Given the description of an element on the screen output the (x, y) to click on. 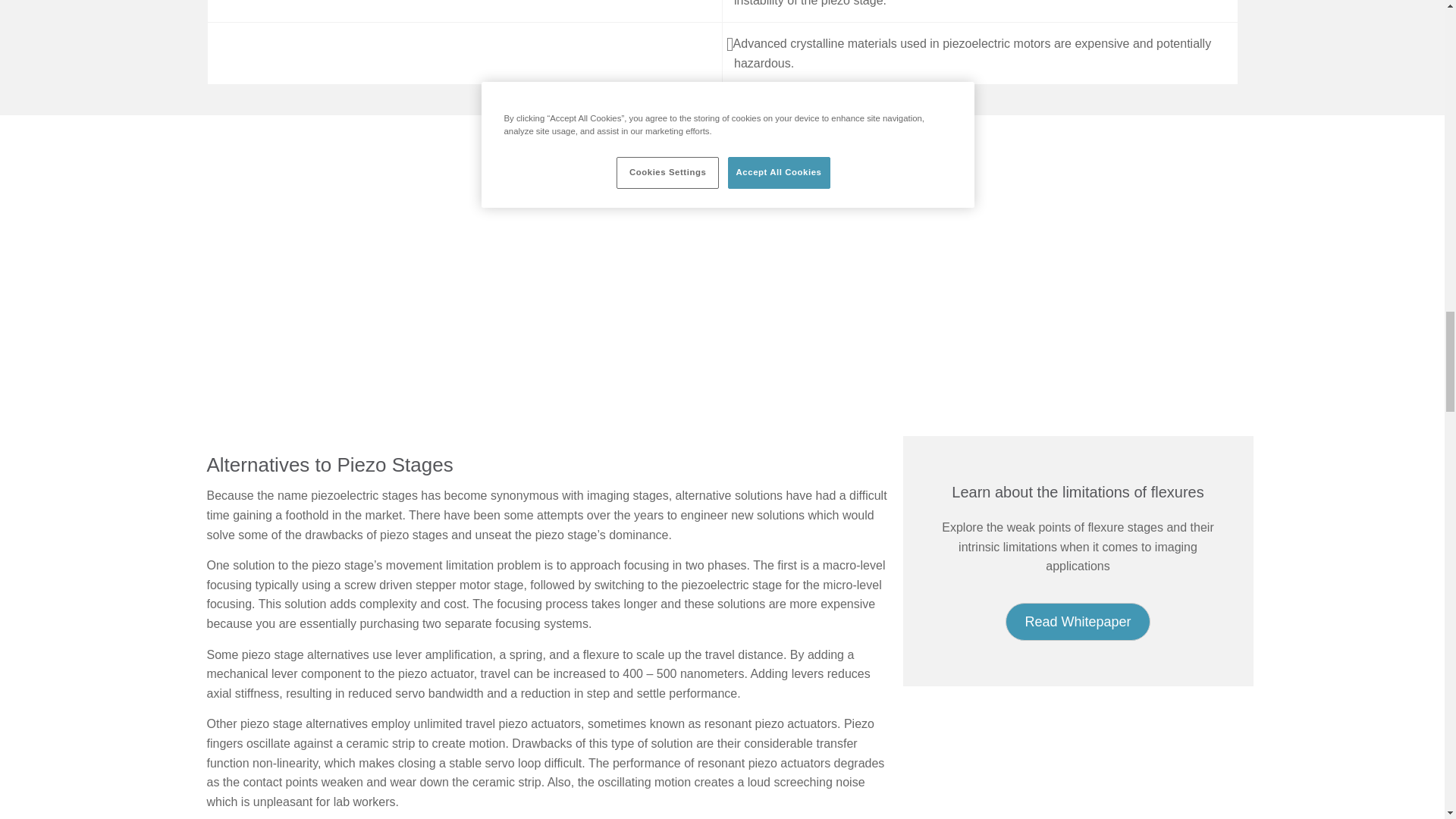
YouTube video player (554, 264)
